Given the description of an element on the screen output the (x, y) to click on. 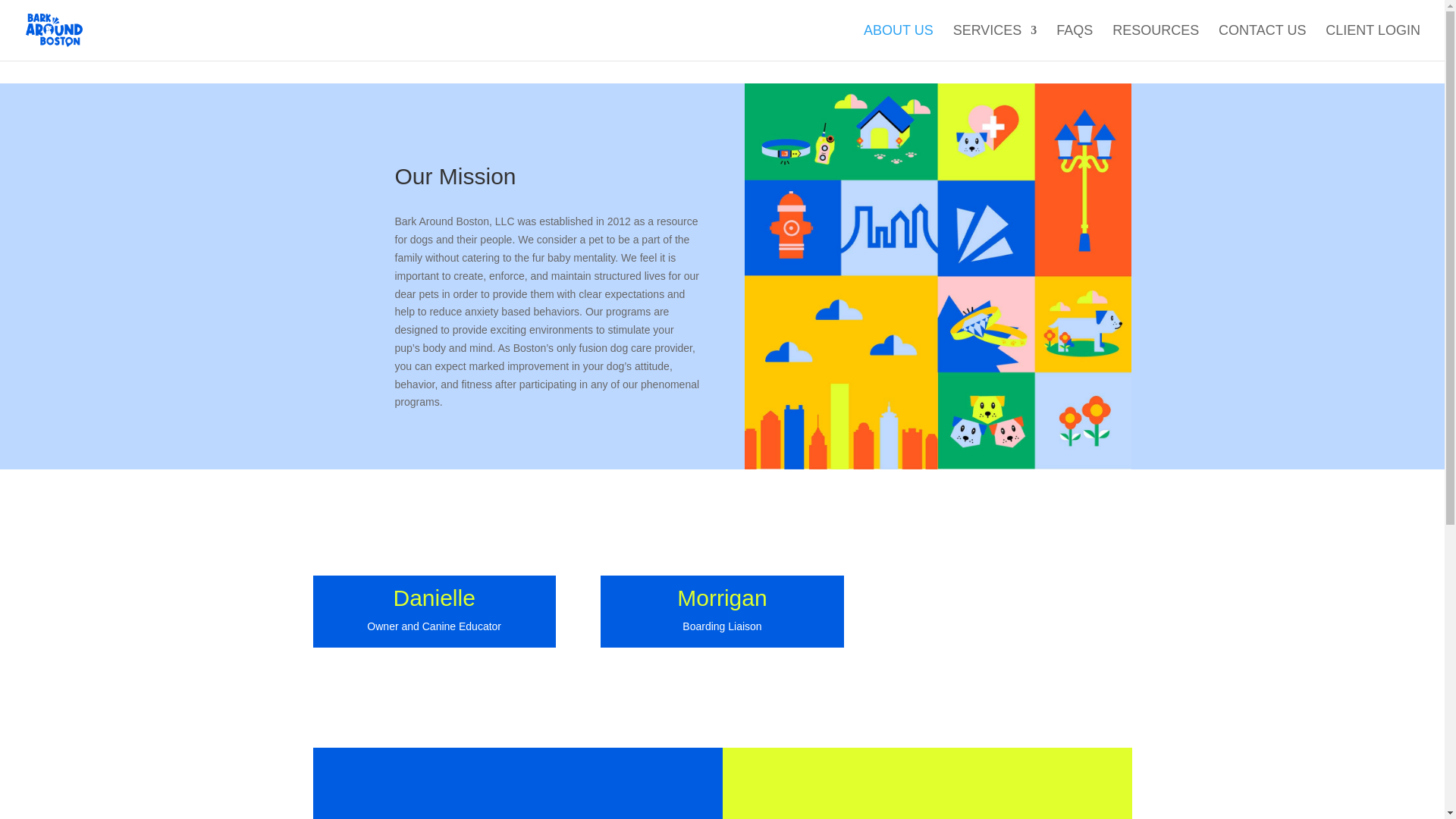
CLIENT LOGIN (1372, 42)
FAQS (1075, 42)
SERVICES (994, 42)
ABOUT US (898, 42)
RESOURCES (1155, 42)
CONTACT US (1262, 42)
